Given the description of an element on the screen output the (x, y) to click on. 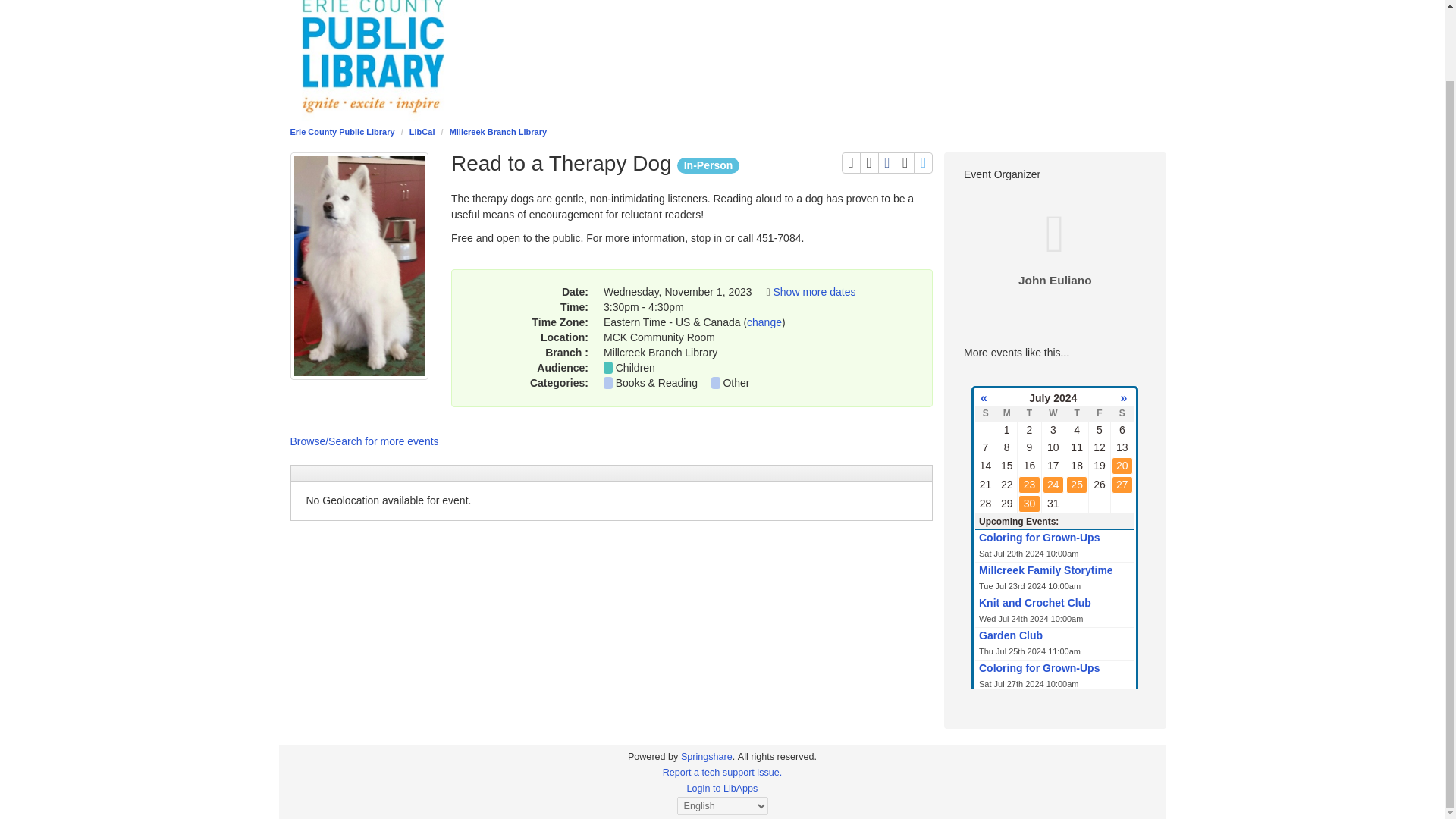
Report a tech support issue. (722, 772)
Children (635, 367)
Springshare (706, 756)
Add to a Calendar using iCal (869, 162)
libcal-us-3 (652, 756)
Login to LibApps (722, 787)
Other (923, 162)
Show more dates (735, 382)
Millcreek Branch Library (814, 291)
Erie County Public Library (904, 162)
change (886, 162)
Erie County Public Library LibCal (498, 131)
